Given the description of an element on the screen output the (x, y) to click on. 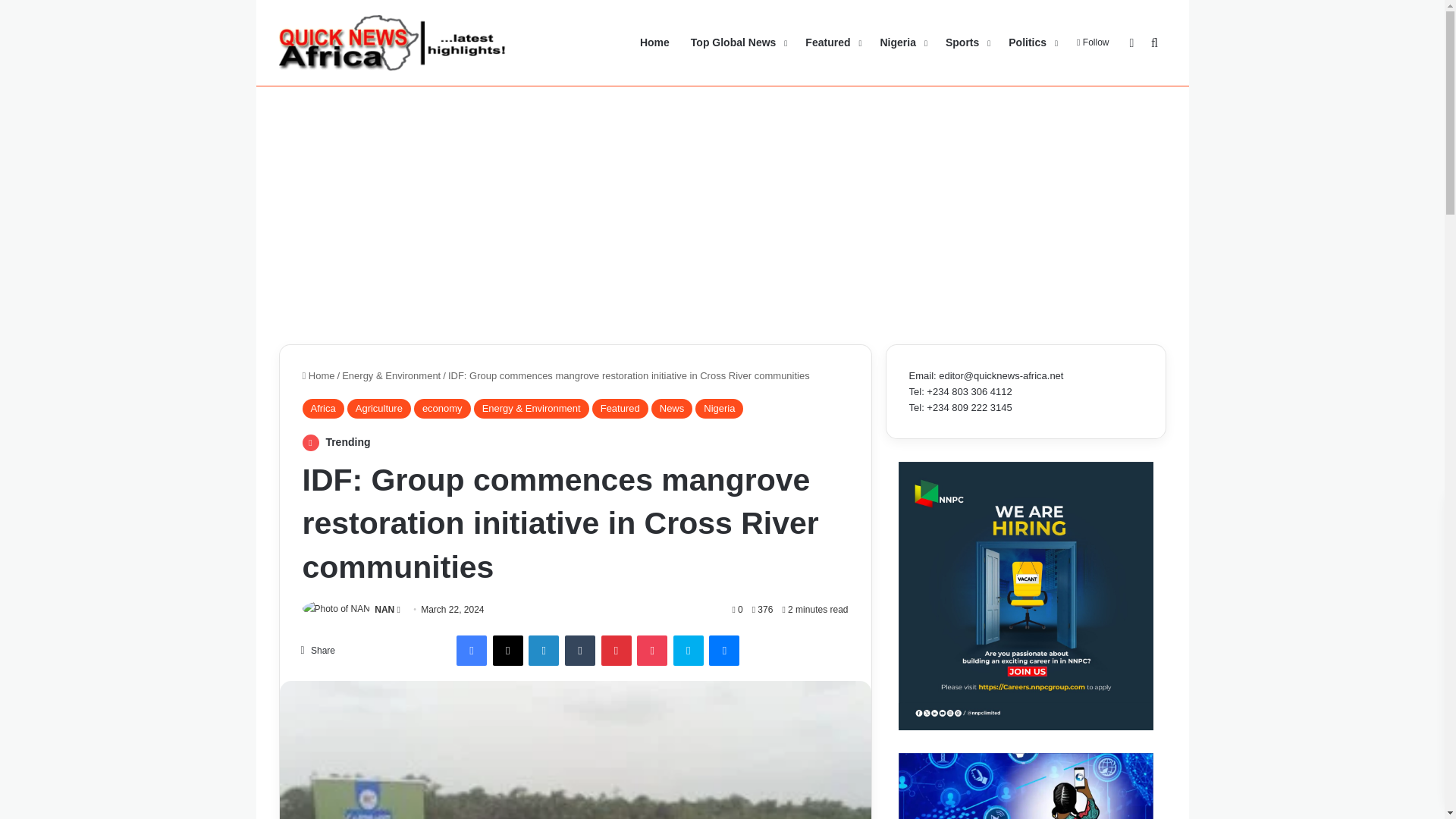
X (507, 650)
Home (317, 375)
LinkedIn (543, 650)
Facebook (471, 650)
NAN (384, 609)
Top Global News (736, 42)
QUICK NEWS AFRICA (392, 42)
